Given the description of an element on the screen output the (x, y) to click on. 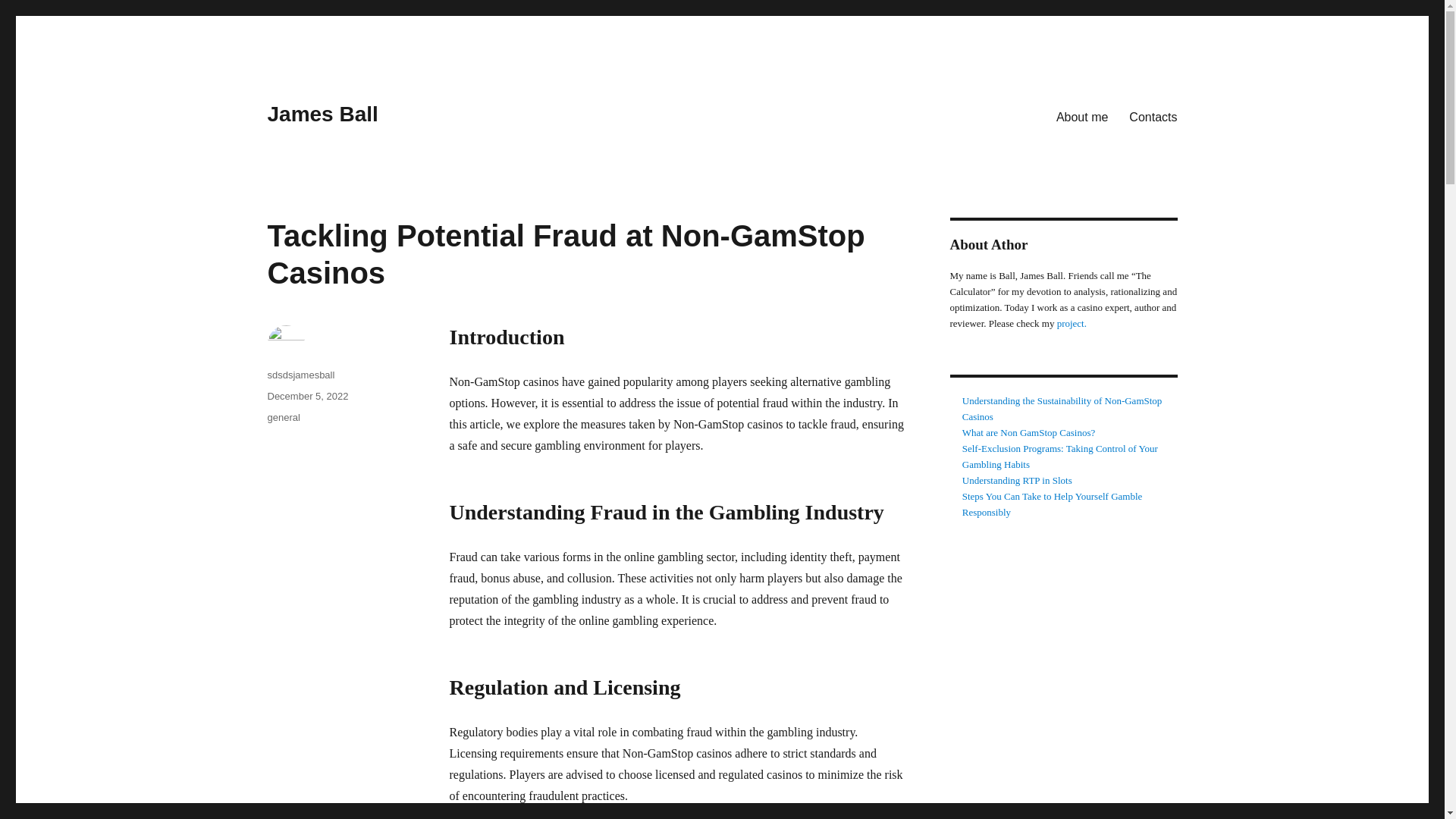
Contacts (1153, 116)
Understanding RTP in Slots (1016, 480)
December 5, 2022 (306, 396)
James Ball (321, 114)
Steps You Can Take to Help Yourself Gamble Responsibly (1052, 503)
What are Non GamStop Casinos? (1028, 432)
project. (1071, 323)
Understanding the Sustainability of Non-GamStop Casinos (1061, 408)
general (282, 417)
sdsdsjamesball (300, 374)
About me (1081, 116)
